Given the description of an element on the screen output the (x, y) to click on. 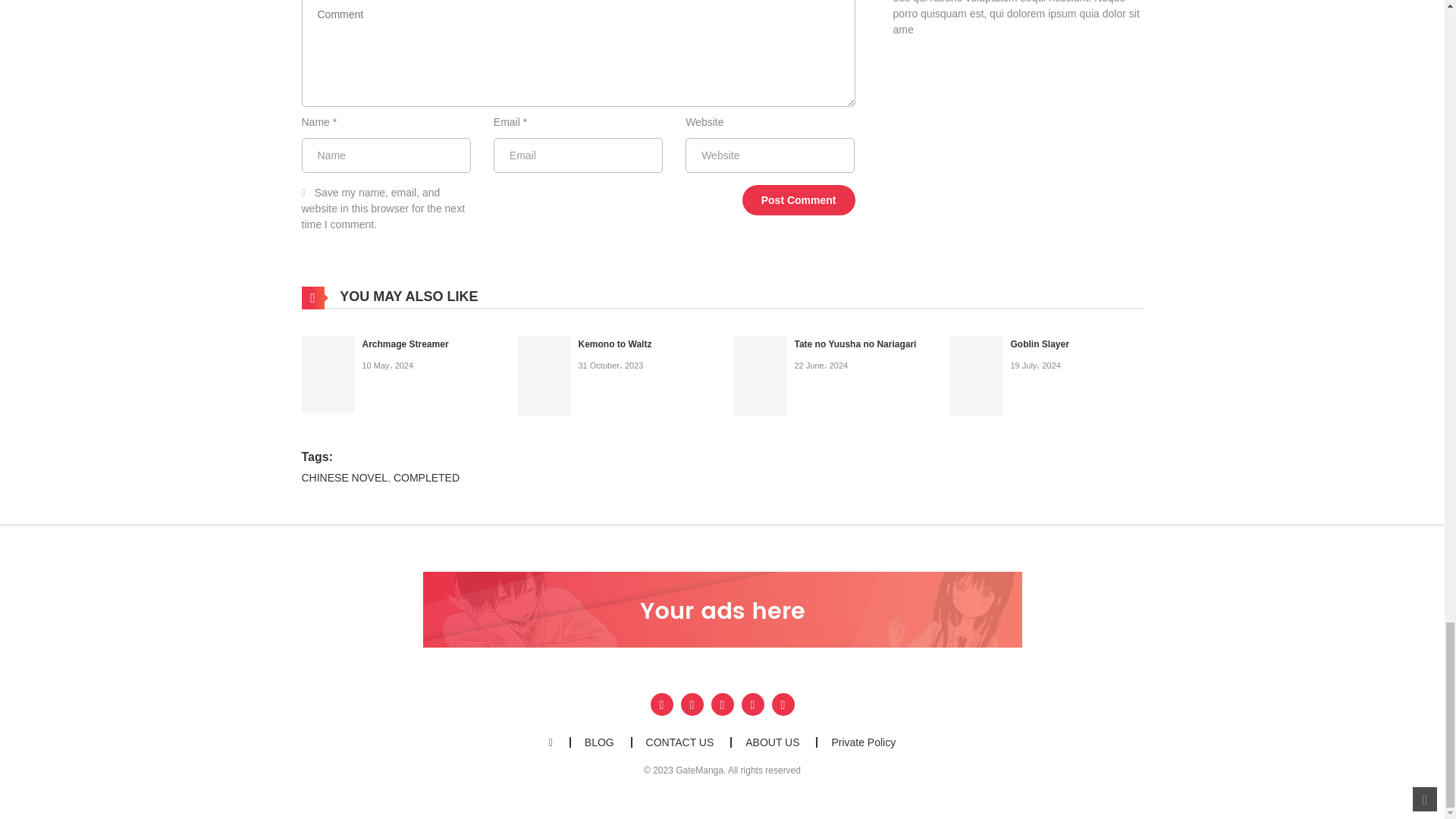
Post Comment (799, 200)
Tate no Yuusha no Nariagari (855, 344)
Archmage Streamer (405, 344)
Goblin Slayer (976, 375)
Kemono to Waltz (543, 375)
Tate no Yuusha no Nariagari (760, 375)
Kemono to Waltz (614, 344)
Archmage Streamer (328, 372)
